Given the description of an element on the screen output the (x, y) to click on. 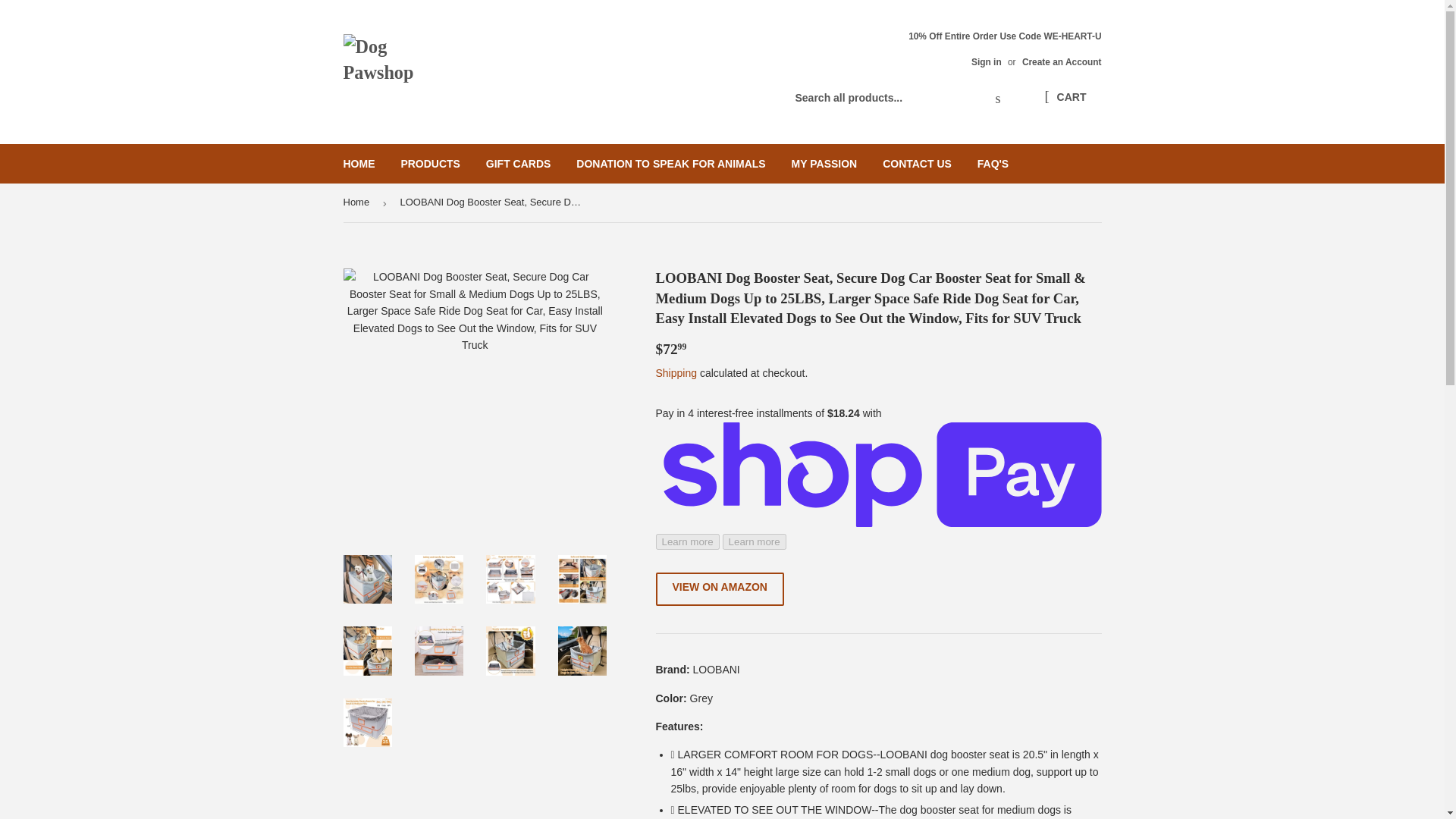
Sign in (986, 61)
Shipping (676, 372)
MY PASSION (824, 163)
CONTACT US (916, 163)
DONATION TO SPEAK FOR ANIMALS (670, 163)
PRODUCTS (429, 163)
Search (997, 98)
CART (1064, 97)
FAQ'S (993, 163)
GIFT CARDS (518, 163)
Create an Account (1062, 61)
HOME (359, 163)
